Given the description of an element on the screen output the (x, y) to click on. 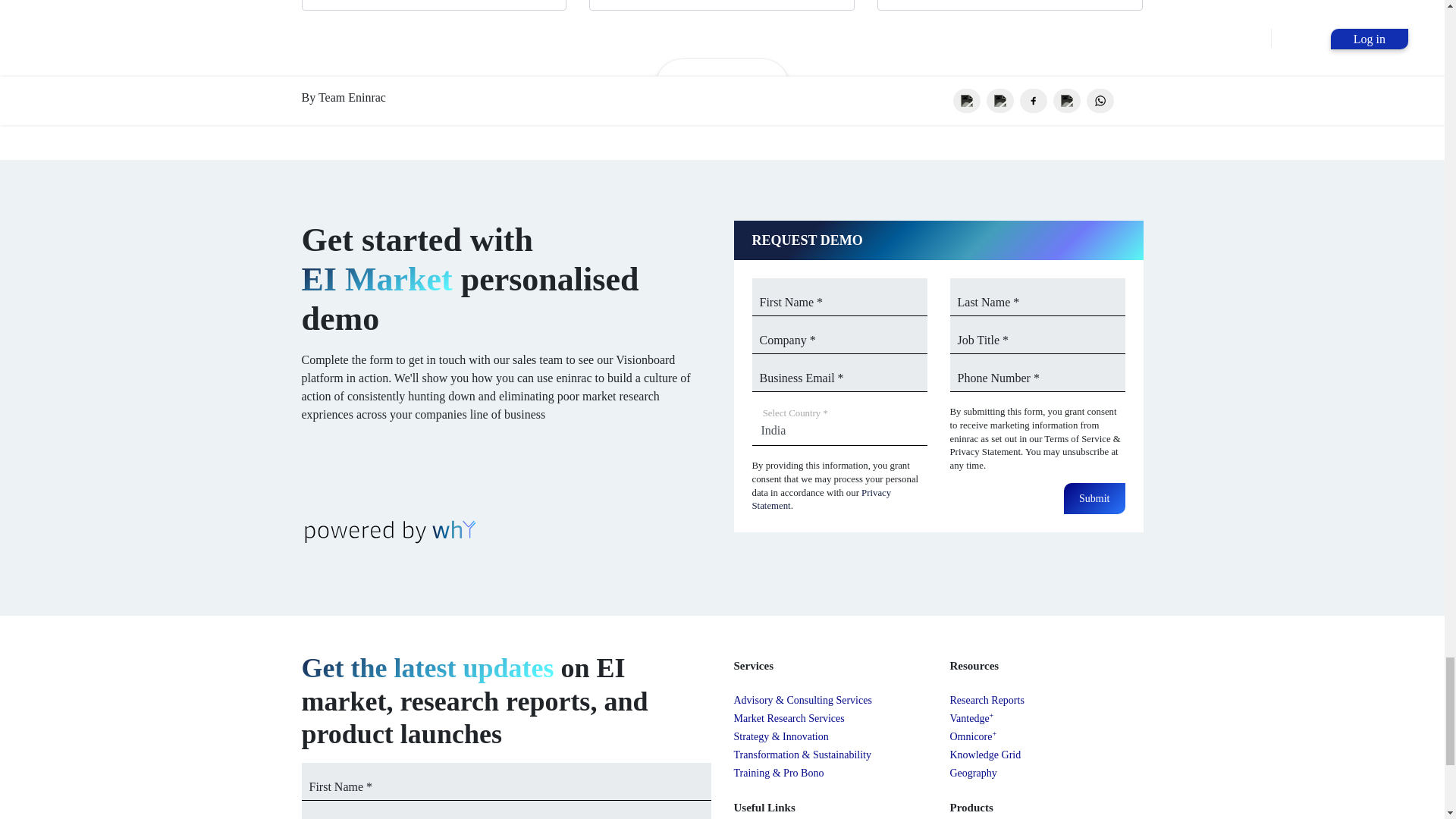
Submit (1094, 498)
